Given the description of an element on the screen output the (x, y) to click on. 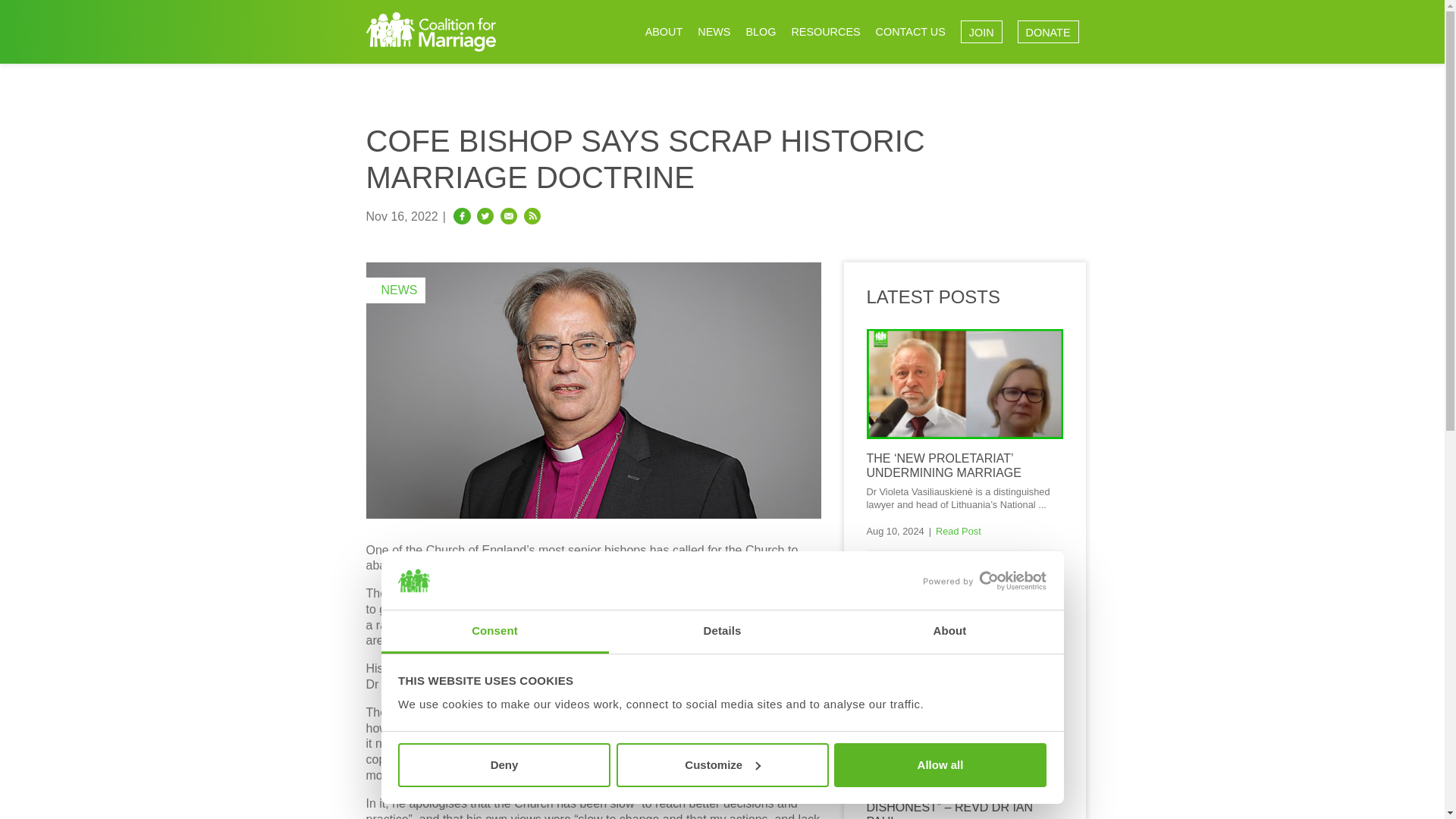
Consent (494, 631)
Share this on Facebook (461, 215)
About (948, 631)
Share this on Twitter (485, 215)
Details (721, 631)
